Given the description of an element on the screen output the (x, y) to click on. 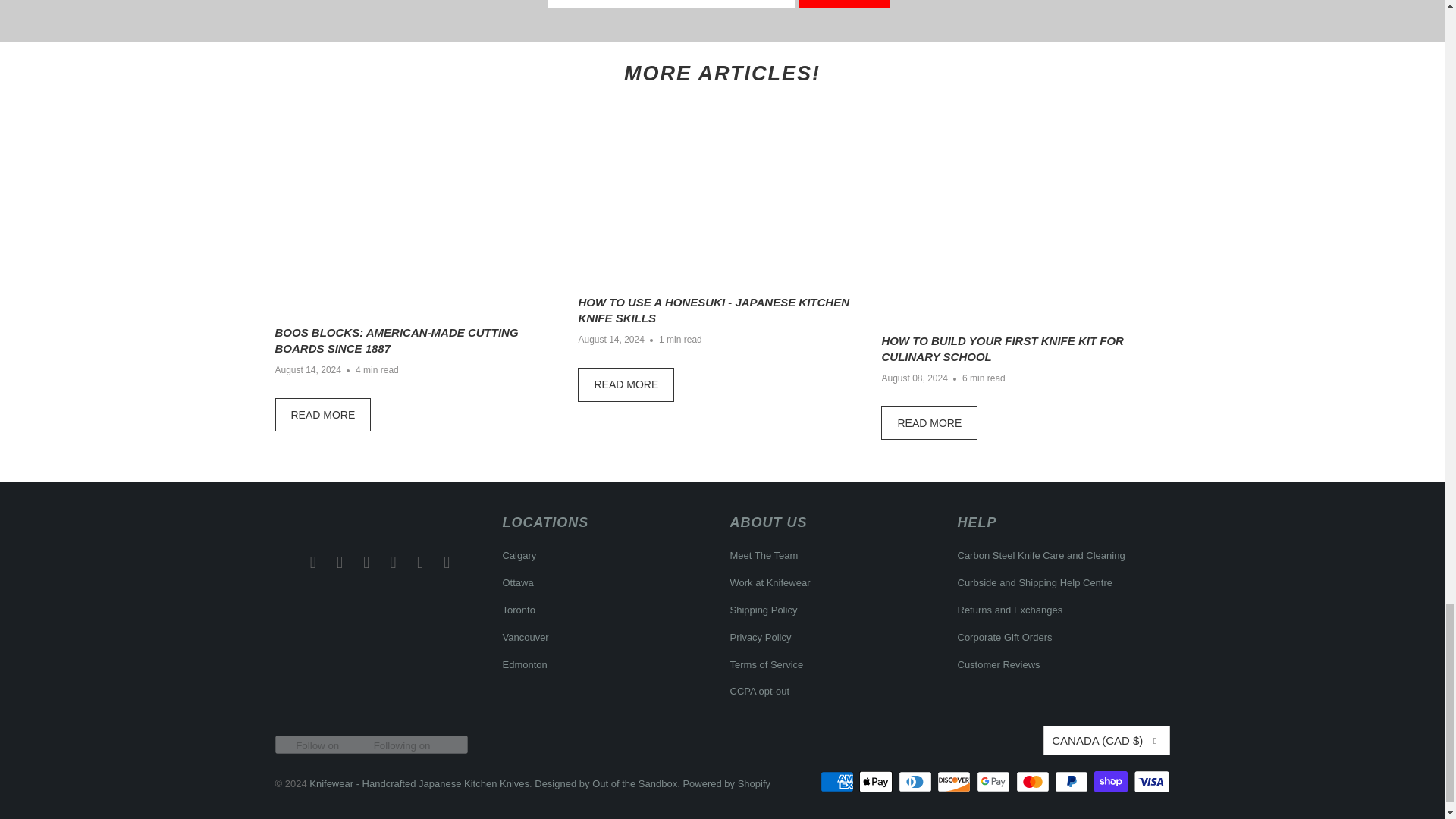
How to Use a Honesuki - Japanese Kitchen Knife Skills (626, 384)
Shop Pay (1112, 781)
Sign Up (842, 3)
Google Pay (994, 781)
Discover (955, 781)
Diners Club (916, 781)
Boos Blocks: American-made Cutting Boards Since 1887 (323, 415)
American Express (839, 781)
Visa (1150, 781)
Mastercard (1034, 781)
